Given the description of an element on the screen output the (x, y) to click on. 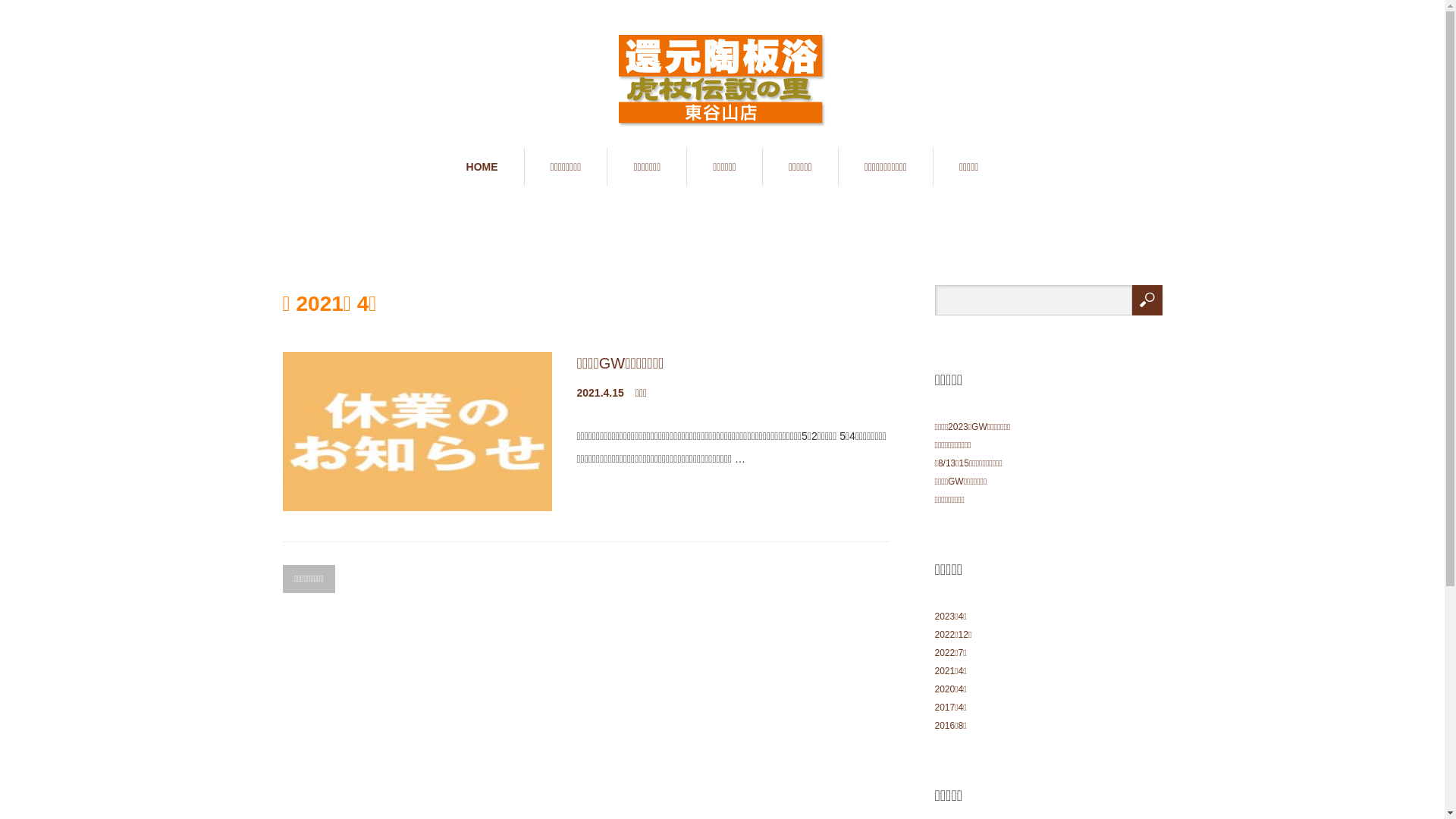
HOME Element type: text (482, 166)
